Given the description of an element on the screen output the (x, y) to click on. 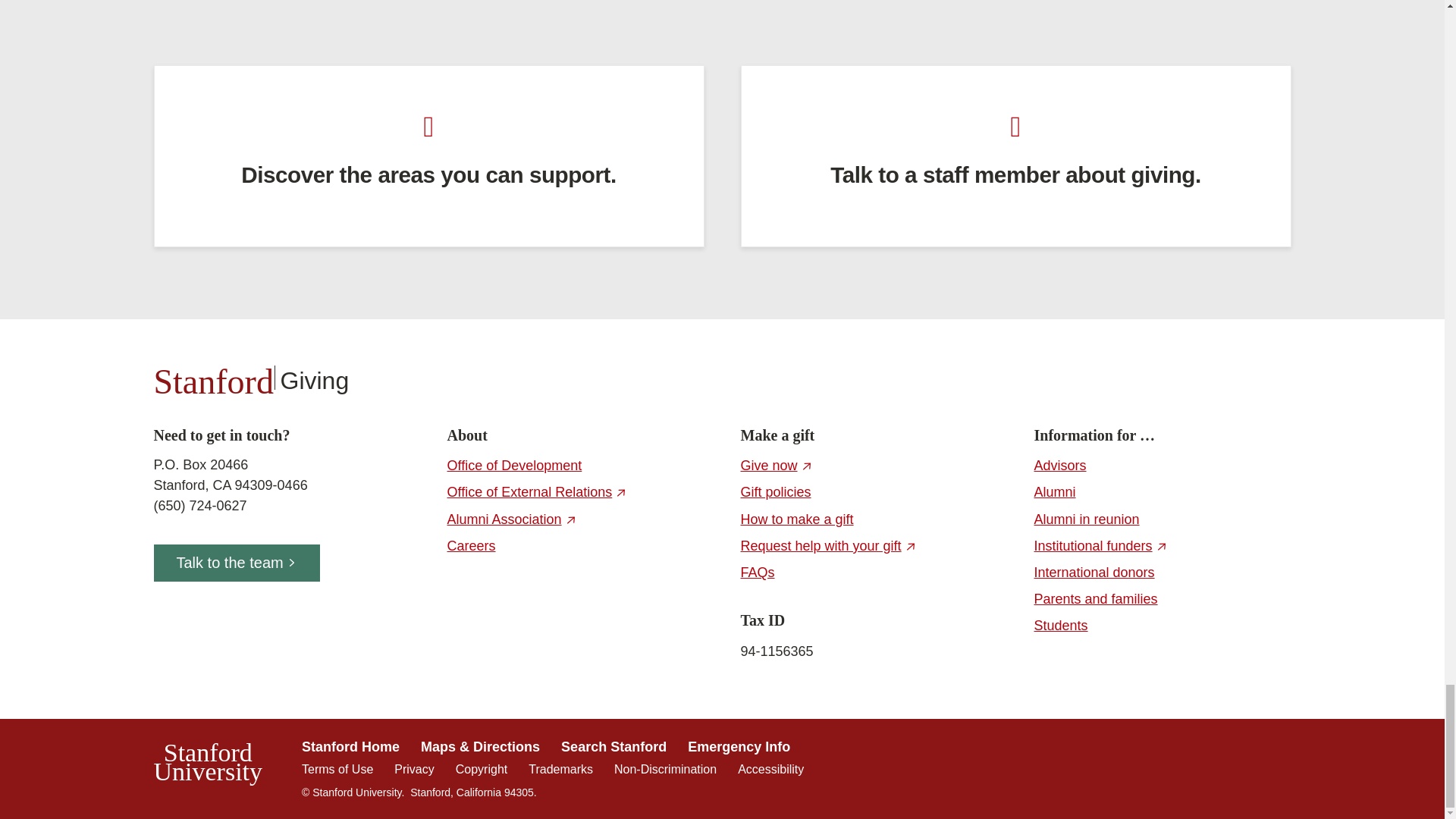
Report web accessibility issues (770, 768)
Terms of use for sites (336, 768)
Privacy and cookie policy (413, 768)
Non-discrimination policy (665, 768)
Ownership and use of Stanford trademarks and images (560, 768)
Report alleged copyright infringement (480, 768)
